Given the description of an element on the screen output the (x, y) to click on. 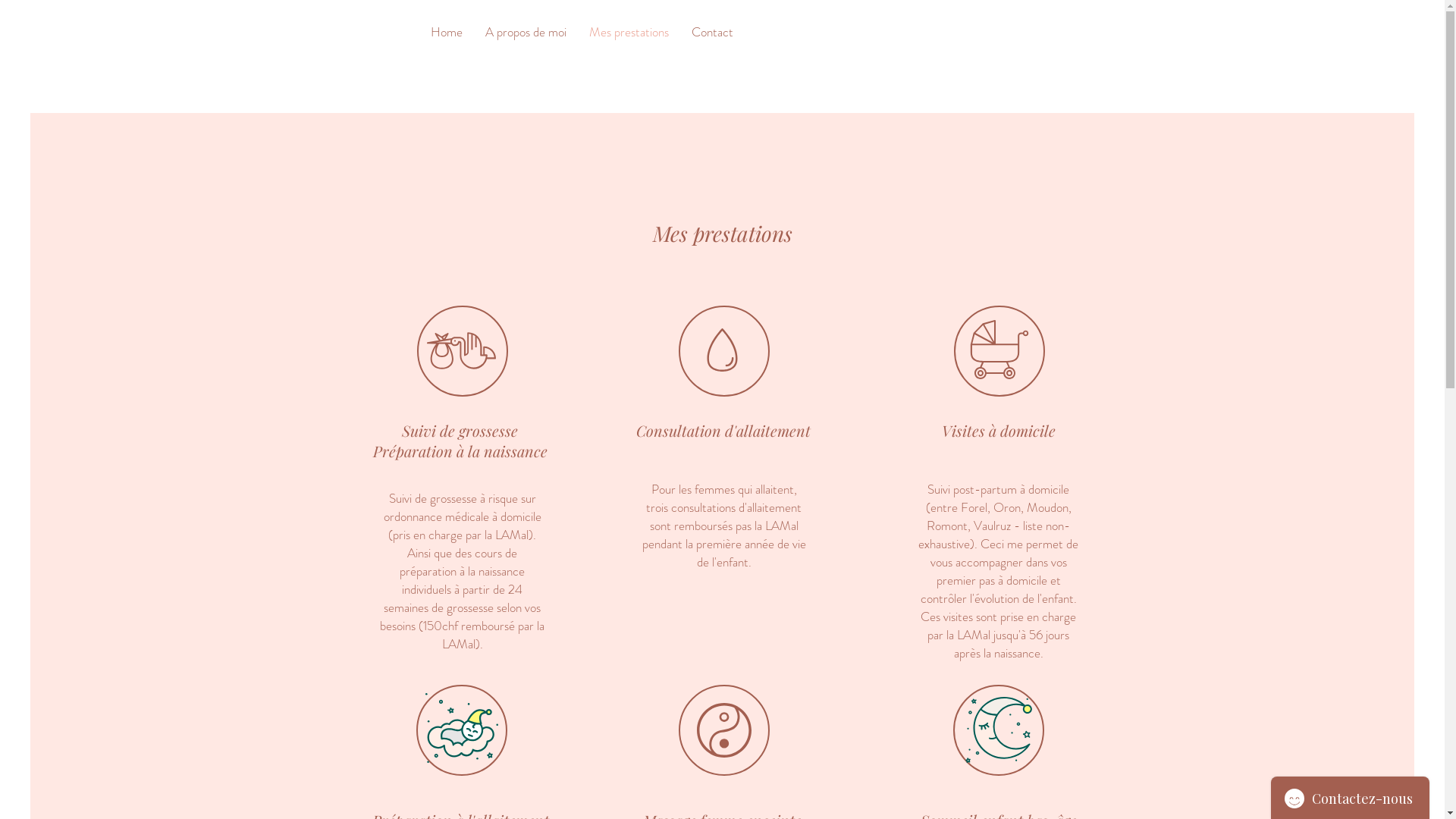
Mes prestations Element type: text (628, 31)
Home Element type: text (445, 31)
& Element type: text (377, 30)
Contact Element type: text (711, 31)
A propos de moi Element type: text (525, 31)
